Given the description of an element on the screen output the (x, y) to click on. 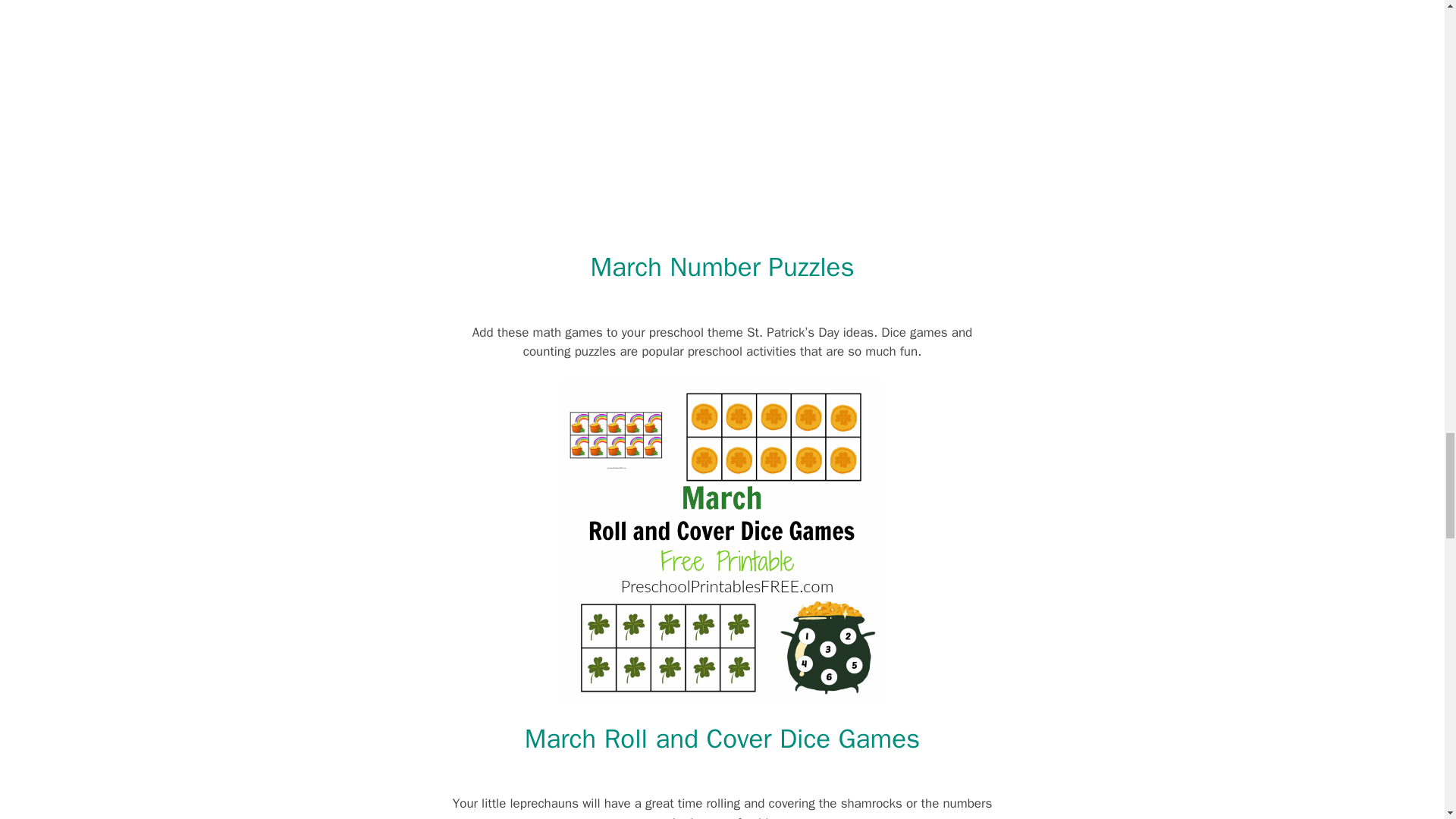
March Number Puzzles (721, 266)
March Roll and Cover Dice Games (722, 738)
